Given the description of an element on the screen output the (x, y) to click on. 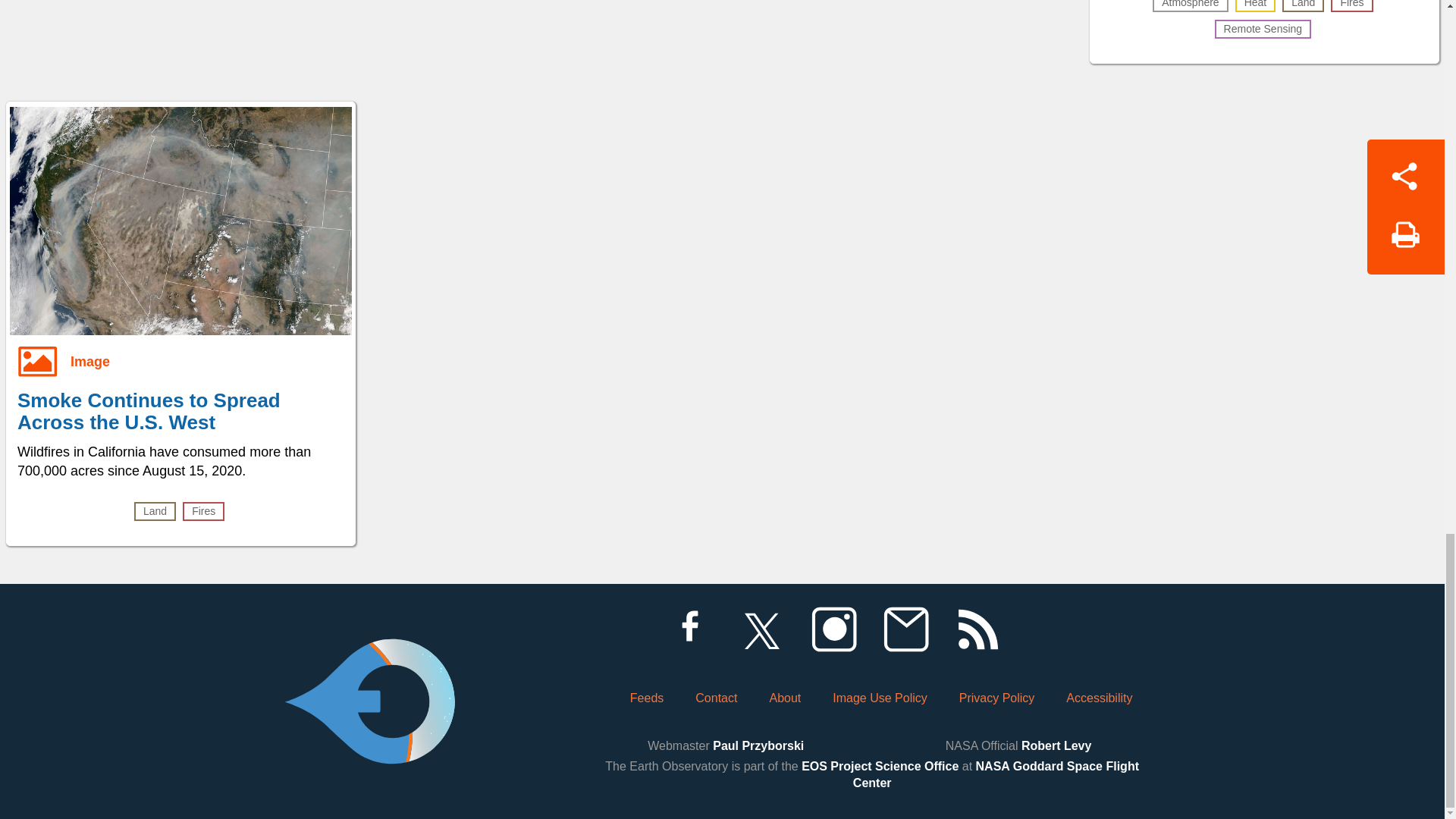
Subscribe (905, 629)
Facebook (689, 629)
Instagram (833, 629)
Earth Observatory (369, 659)
RSS (977, 629)
Twitter (761, 629)
